Given the description of an element on the screen output the (x, y) to click on. 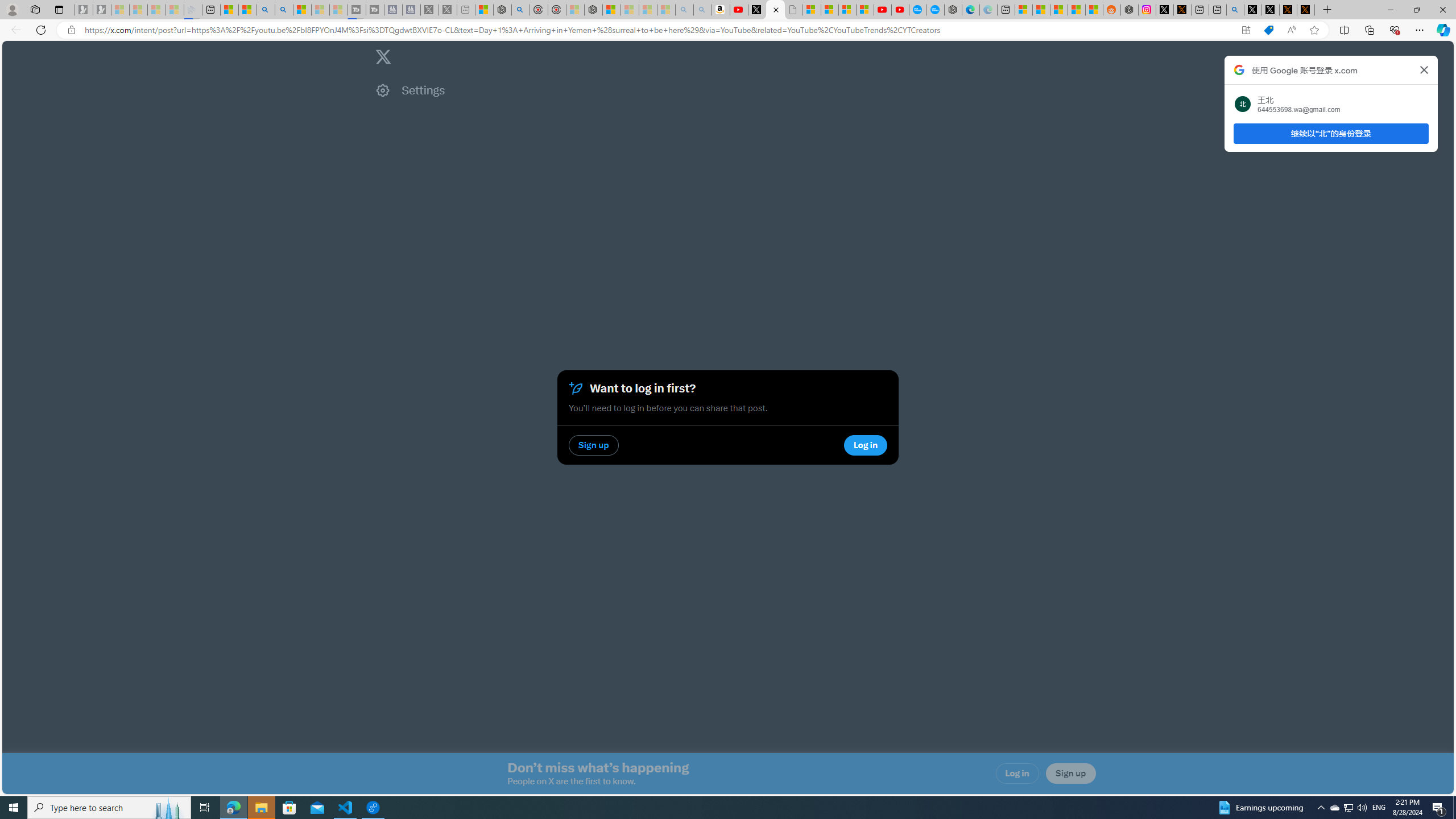
Add this page to favorites (Ctrl+D) (1314, 29)
Tab actions menu (58, 9)
Profile / X (1252, 9)
Sign up (1070, 773)
